Given the description of an element on the screen output the (x, y) to click on. 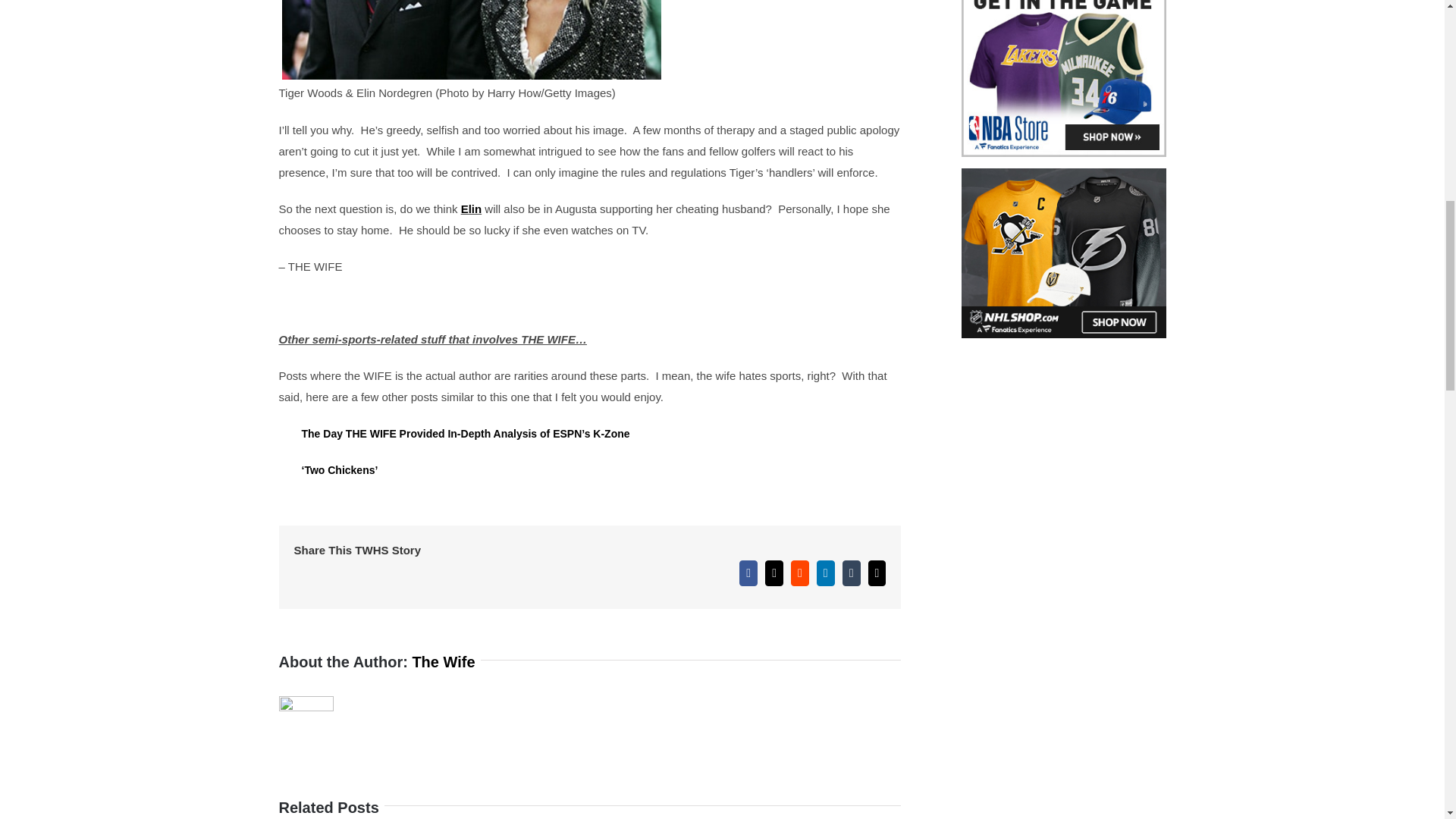
The Wife (443, 661)
Posts by The Wife (443, 661)
Elin (471, 208)
